Given the description of an element on the screen output the (x, y) to click on. 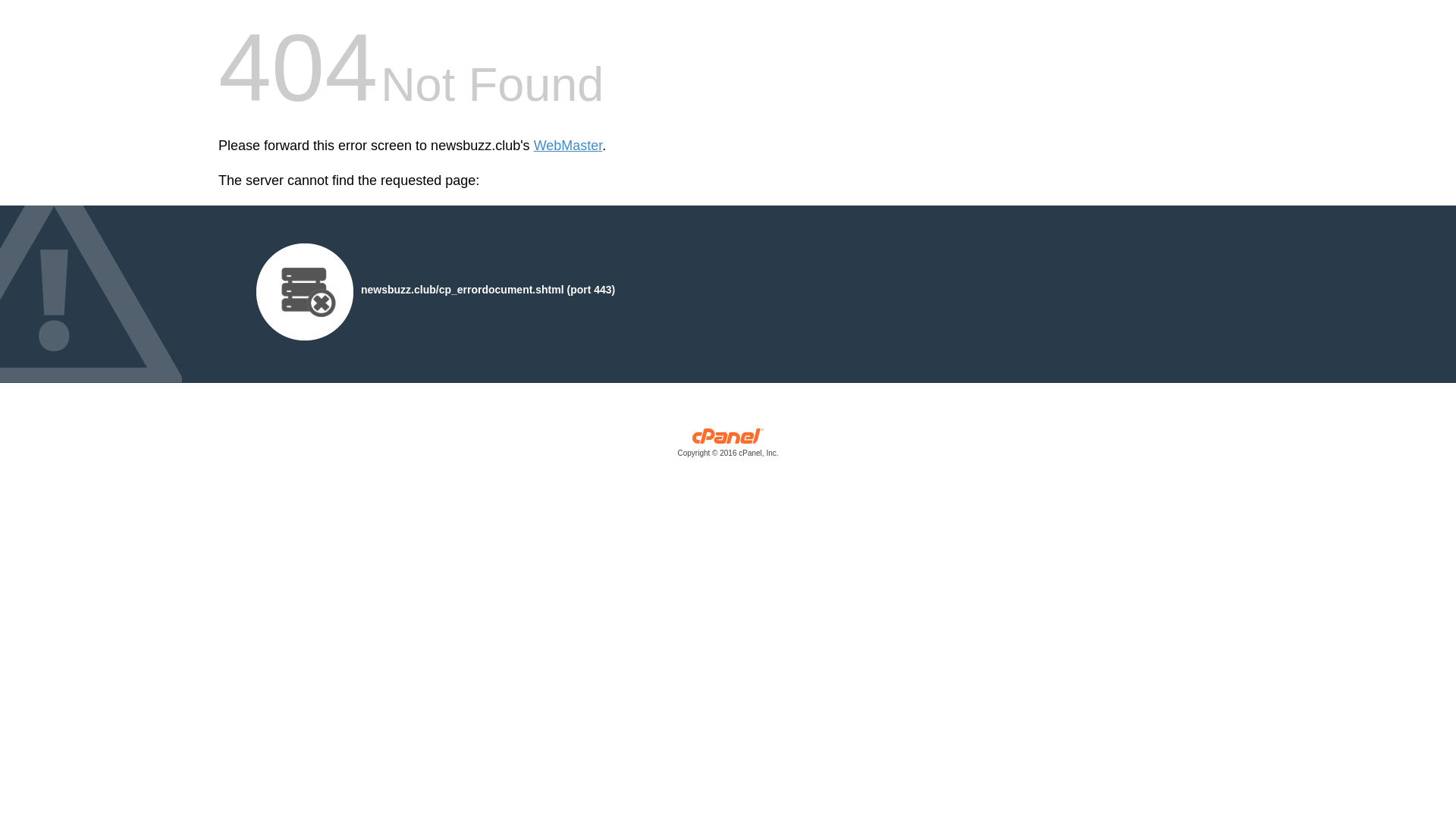
cPanel, Inc. (727, 446)
WebMaster (568, 145)
